Given the description of an element on the screen output the (x, y) to click on. 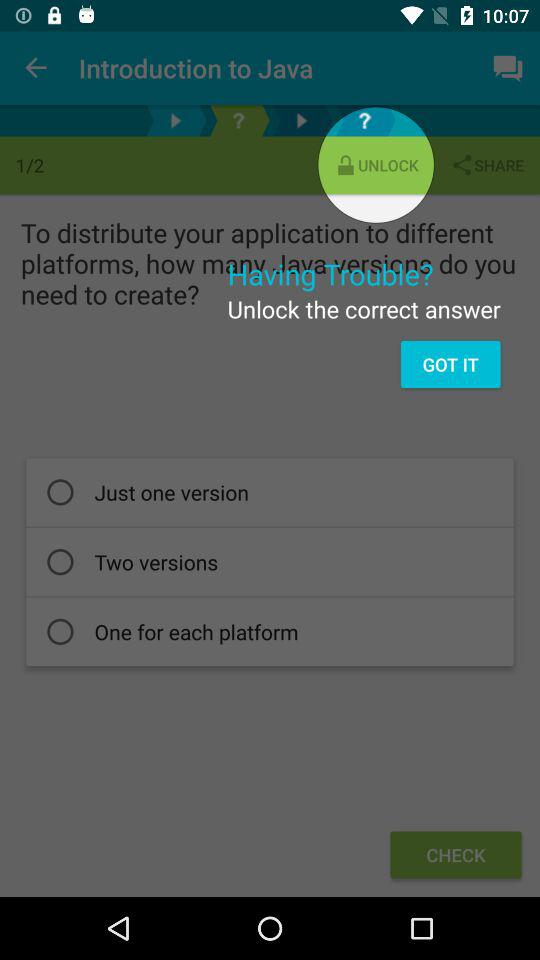
go next (301, 120)
